Given the description of an element on the screen output the (x, y) to click on. 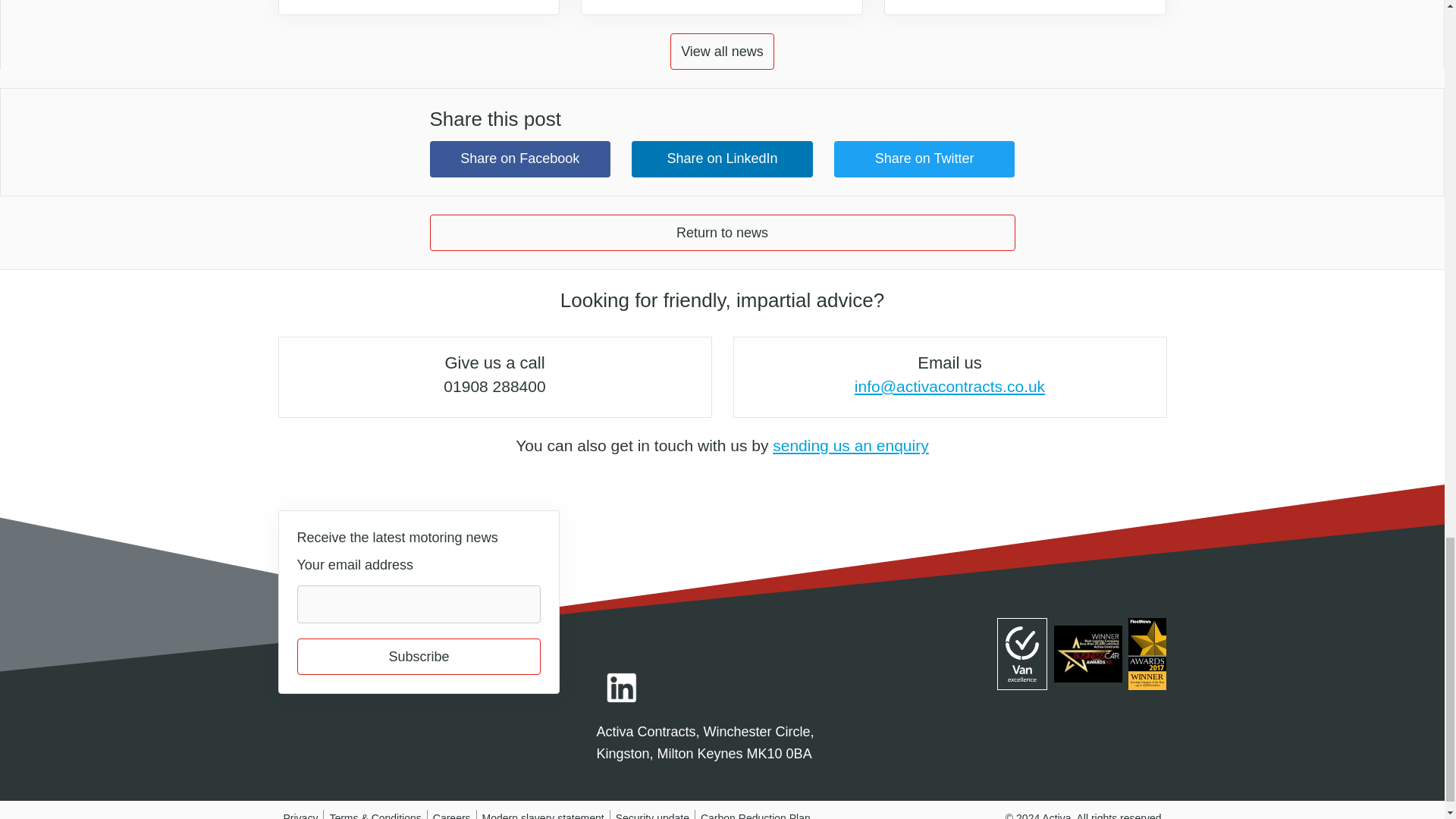
Modern slavery statement (542, 815)
sending us an enquiry (850, 445)
Return to news (721, 232)
Share on Twitter (924, 158)
Subscribe (419, 656)
Careers (451, 815)
Privacy (300, 815)
View all news (721, 51)
Share on Facebook (519, 158)
Share on LinkedIn (721, 158)
01908 288400 (494, 385)
